Given the description of an element on the screen output the (x, y) to click on. 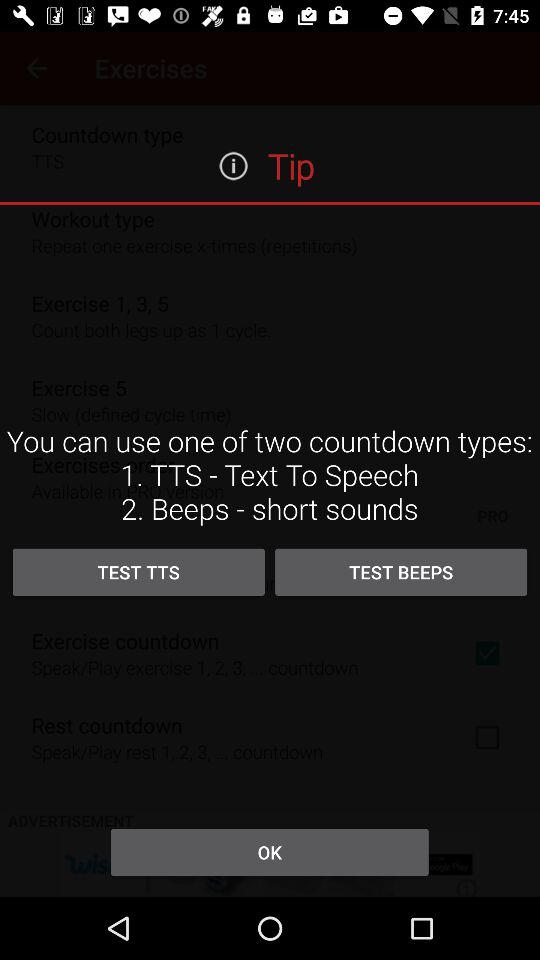
turn off the icon next to test tts icon (401, 571)
